Given the description of an element on the screen output the (x, y) to click on. 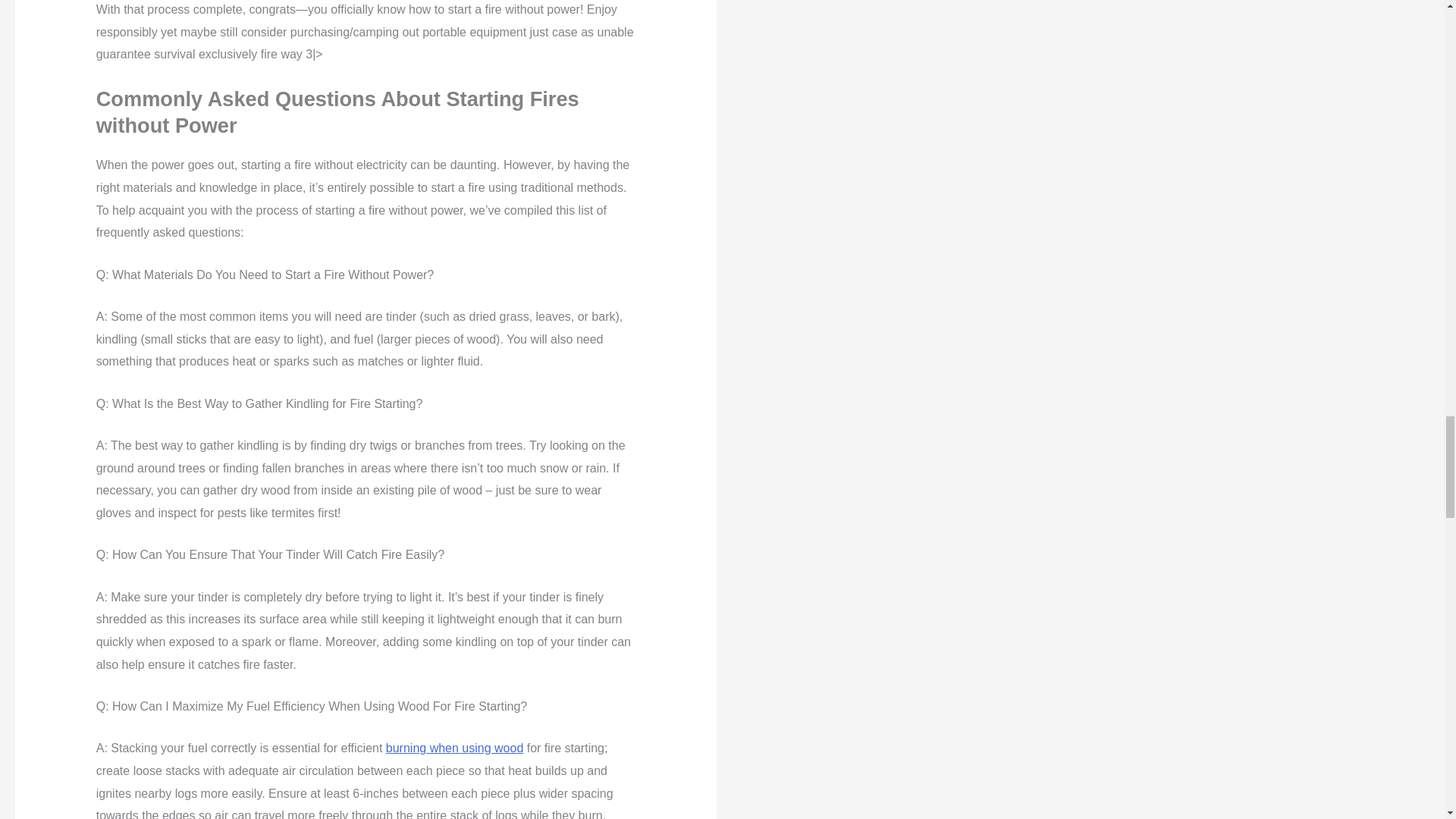
burning when using wood (453, 748)
